Given the description of an element on the screen output the (x, y) to click on. 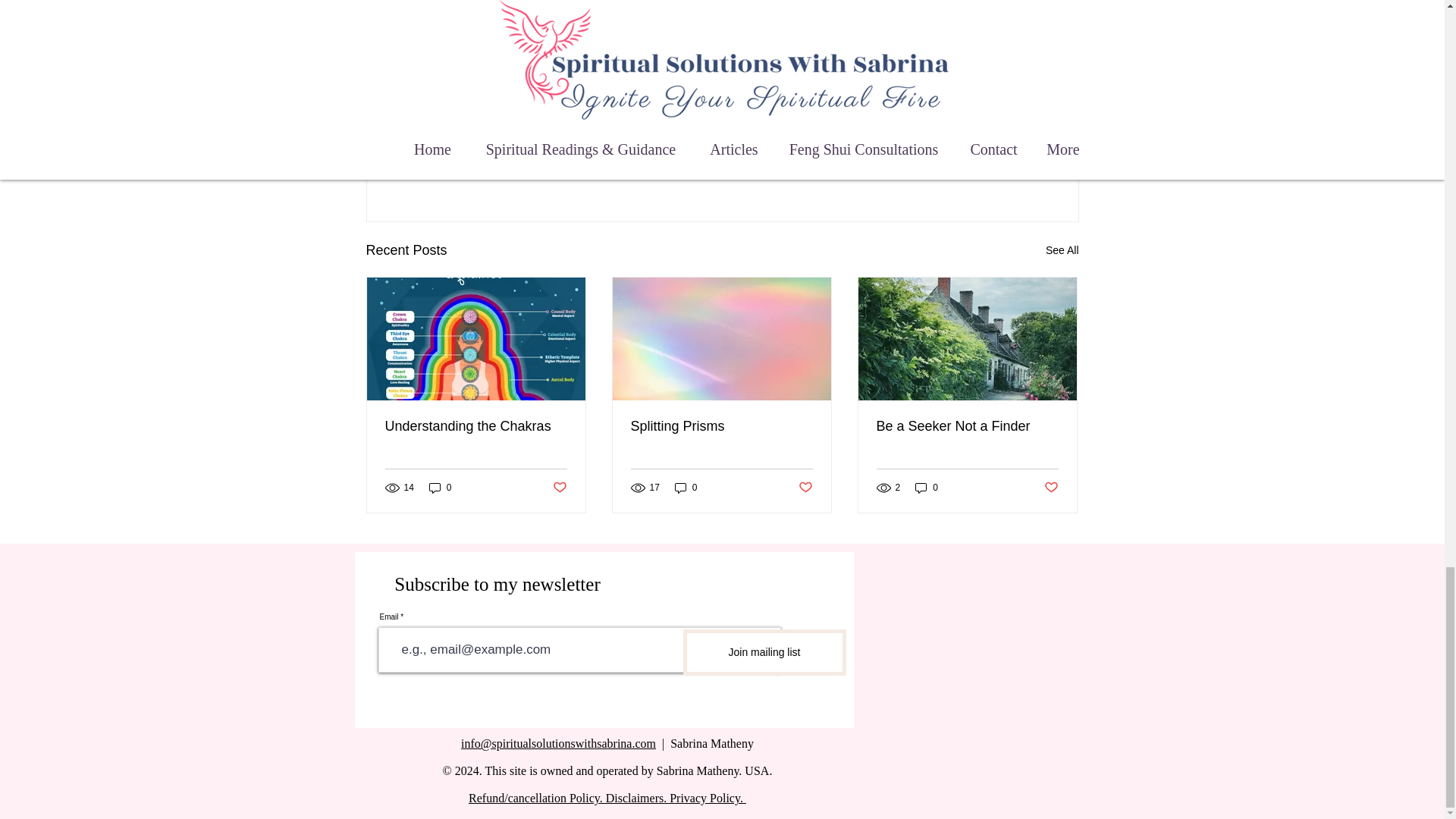
body (529, 65)
soul (625, 65)
Energetic Wellness (812, 122)
self-care (471, 65)
Understanding the Chakras (476, 426)
Post not marked as liked (558, 487)
See All (1061, 250)
mind (578, 65)
0 (440, 487)
Post not marked as liked (995, 167)
